Given the description of an element on the screen output the (x, y) to click on. 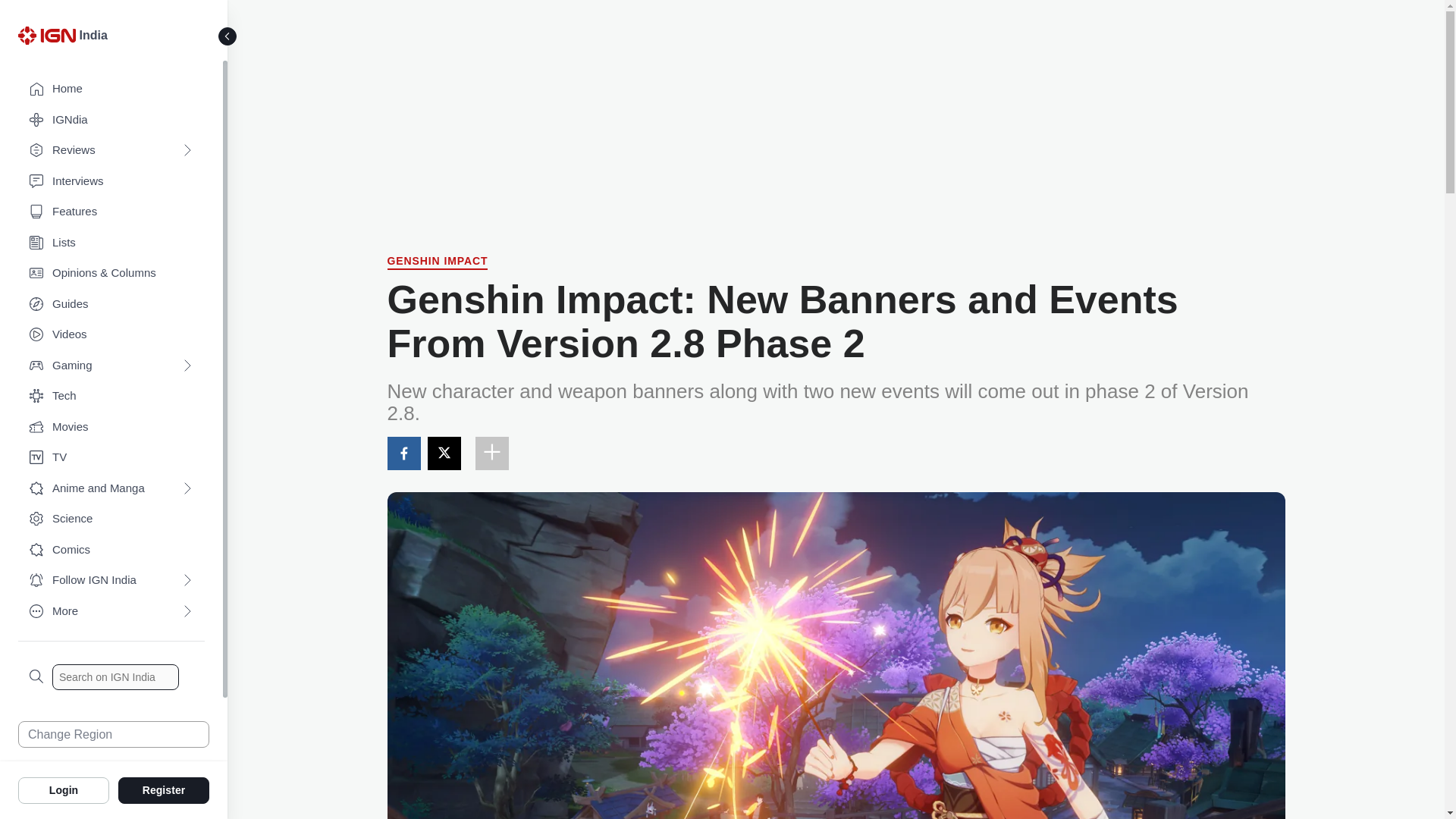
More (111, 610)
IGNdia (111, 119)
Features (111, 211)
Follow IGN India (111, 580)
Comics (111, 550)
Videos (111, 334)
Science (111, 518)
Genshin Impact (437, 262)
Gaming (111, 365)
Anime and Manga (111, 487)
